Given the description of an element on the screen output the (x, y) to click on. 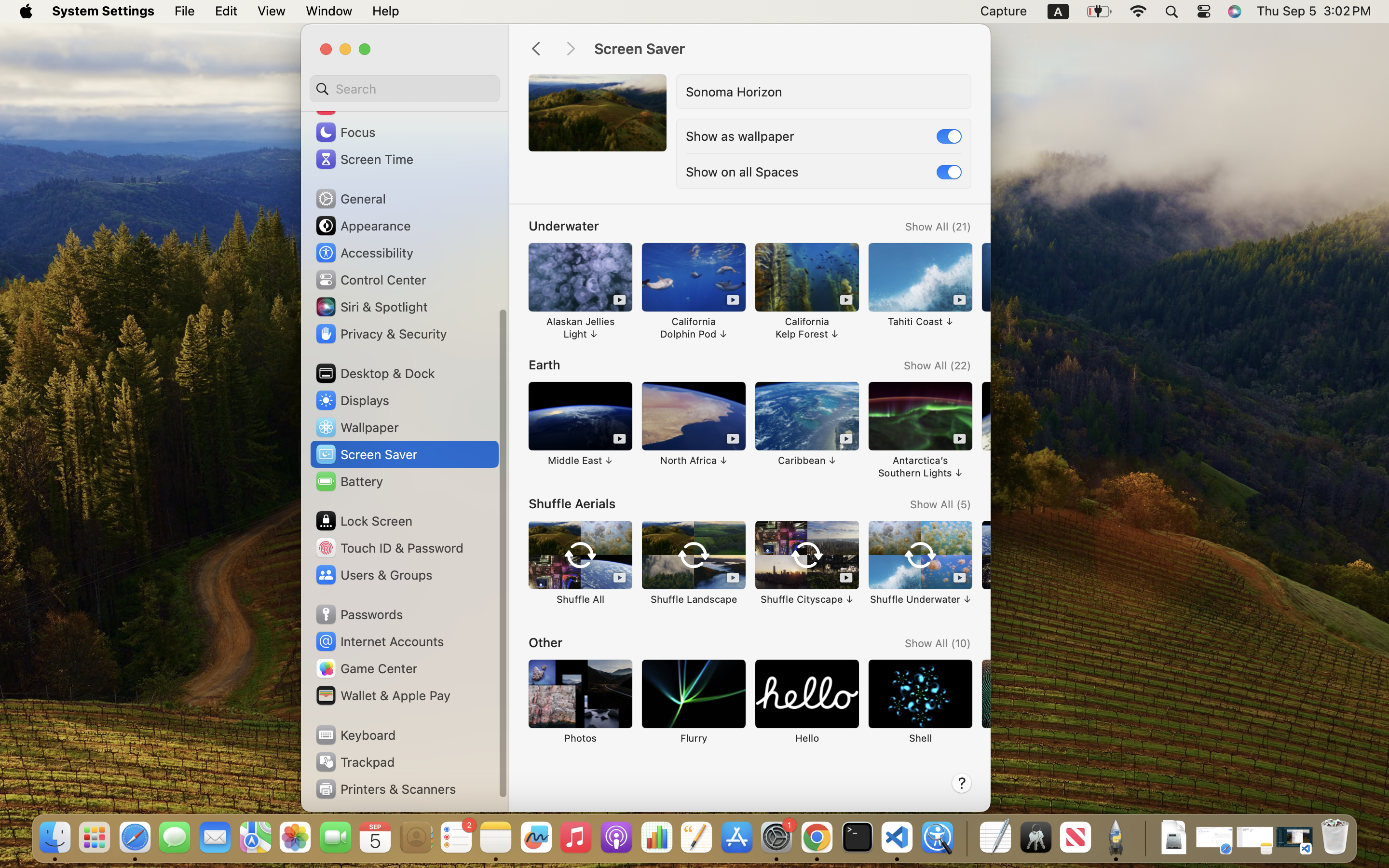
Wallpaper Element type: AXStaticText (356, 426)
Cityscape Element type: AXStaticText (558, 86)
Printers & Scanners Element type: AXStaticText (385, 788)
Shuffle Aerials Element type: AXStaticText (571, 503)
